Given the description of an element on the screen output the (x, y) to click on. 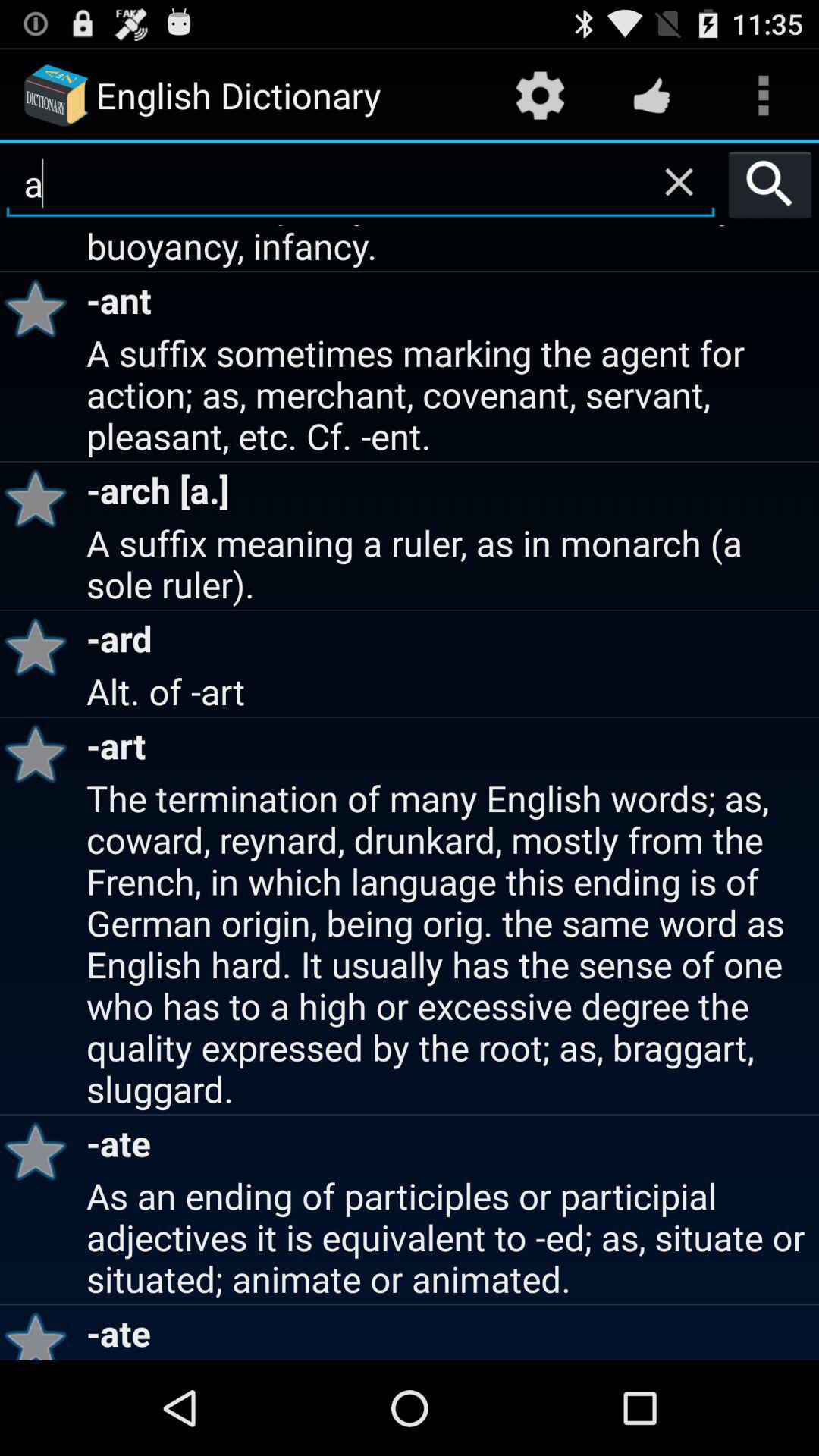
turn on icon to the left of the alt. of -art item (41, 753)
